Given the description of an element on the screen output the (x, y) to click on. 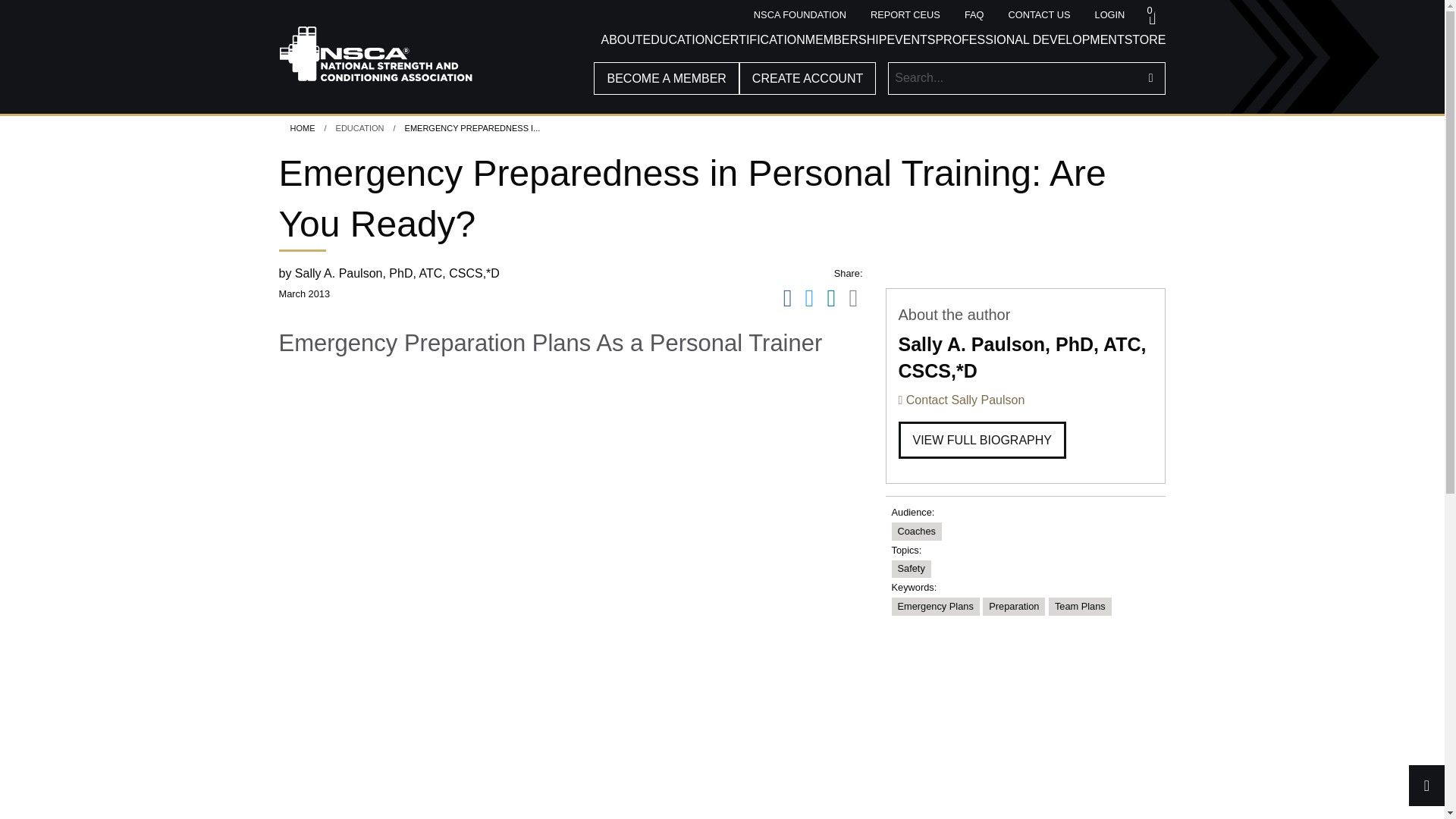
Shopping cart (1151, 15)
